Given the description of an element on the screen output the (x, y) to click on. 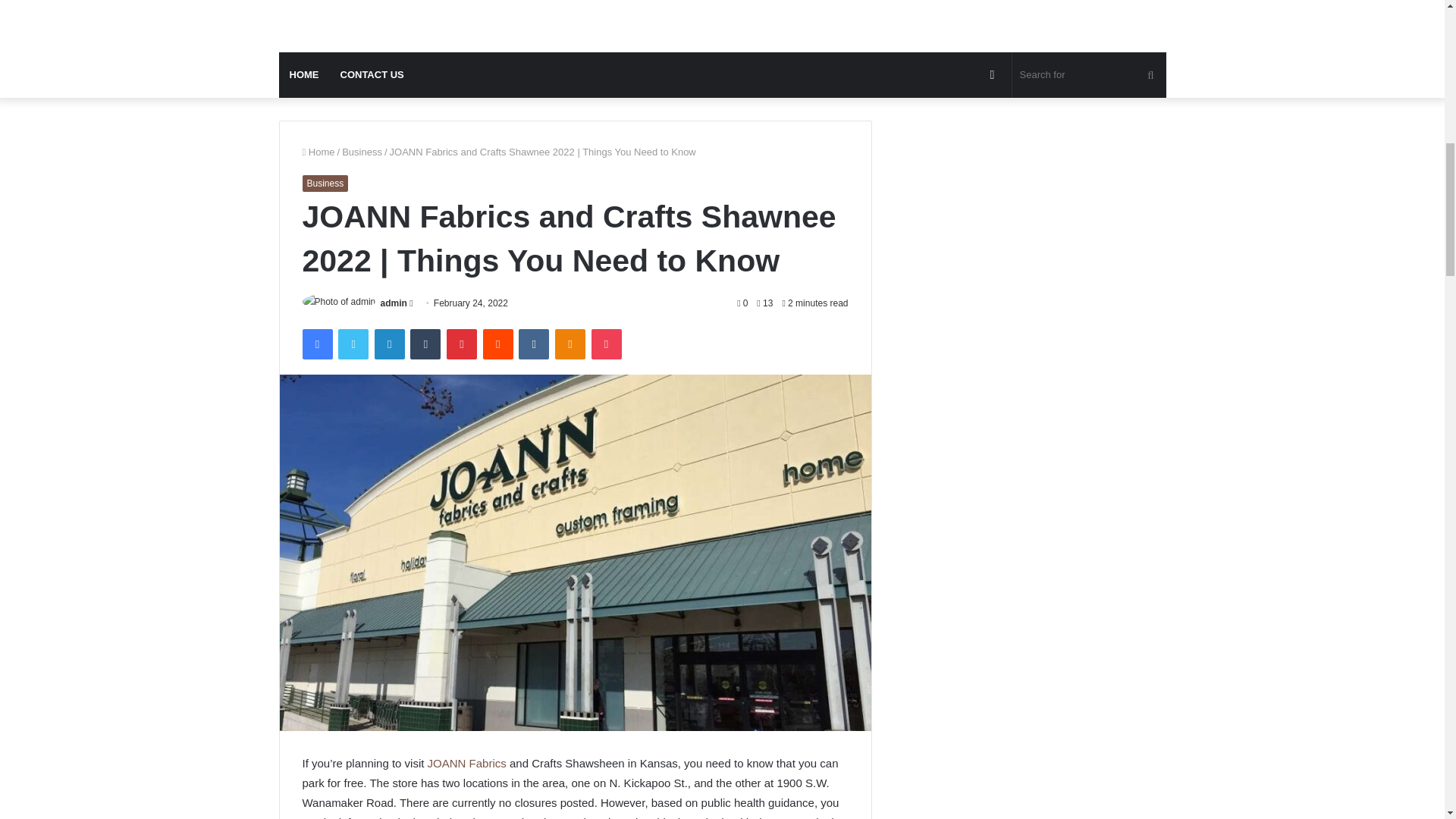
Reddit (498, 344)
Pocket (606, 344)
Pinterest (461, 344)
Home (317, 152)
Search for (1088, 74)
Tumblr (425, 344)
Reddit (498, 344)
admin (393, 303)
HOME (304, 74)
JOANN Fabrics (467, 762)
